Given the description of an element on the screen output the (x, y) to click on. 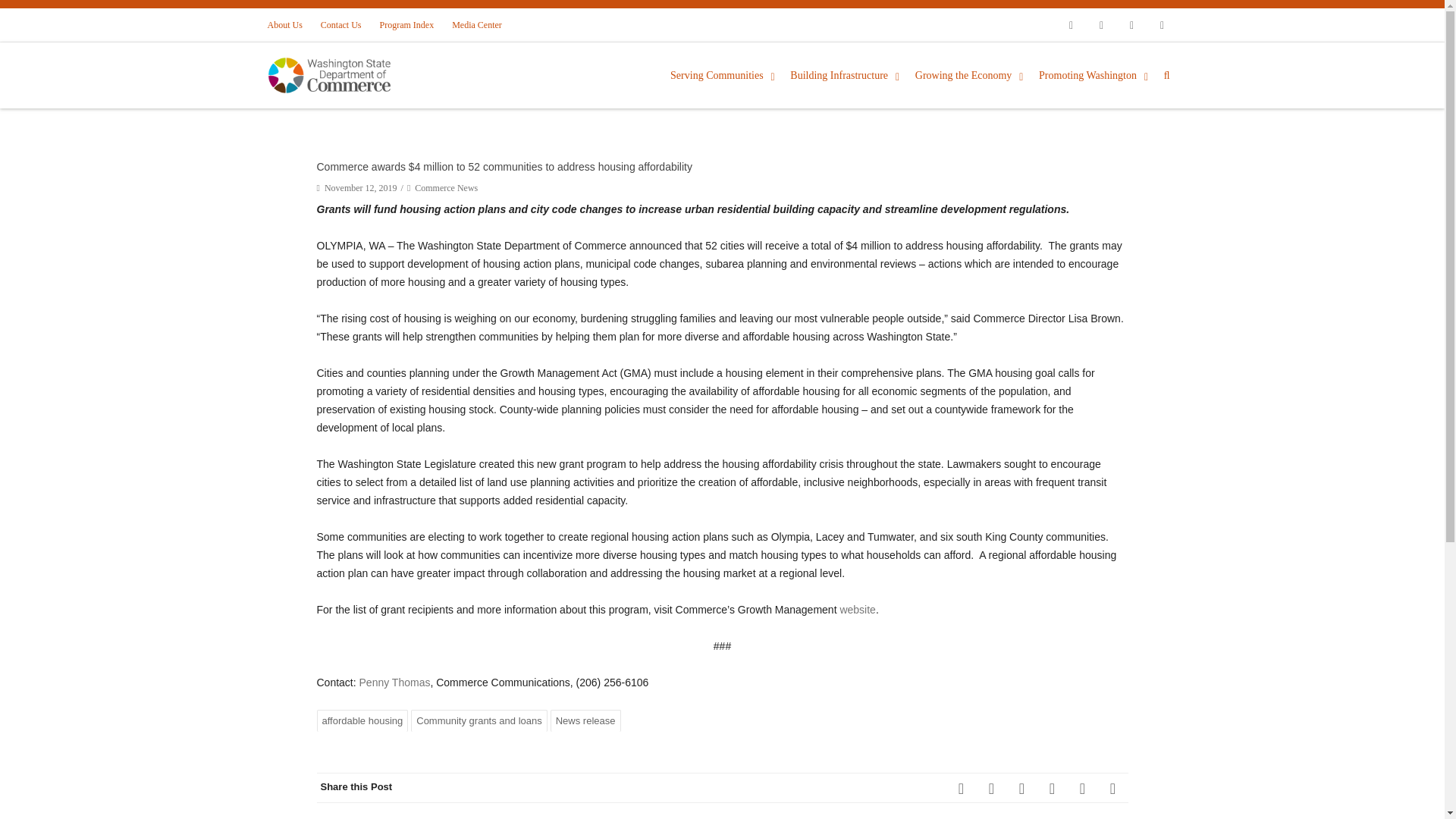
Linkedin (1161, 24)
Washington State Department of Commerce (341, 75)
Contact Us (341, 24)
Email (1112, 788)
Facebook (1070, 24)
About Us (288, 24)
LinkedIn (1082, 788)
Facebook (961, 788)
Twitter (1101, 24)
Instagram (1131, 24)
